Given the description of an element on the screen output the (x, y) to click on. 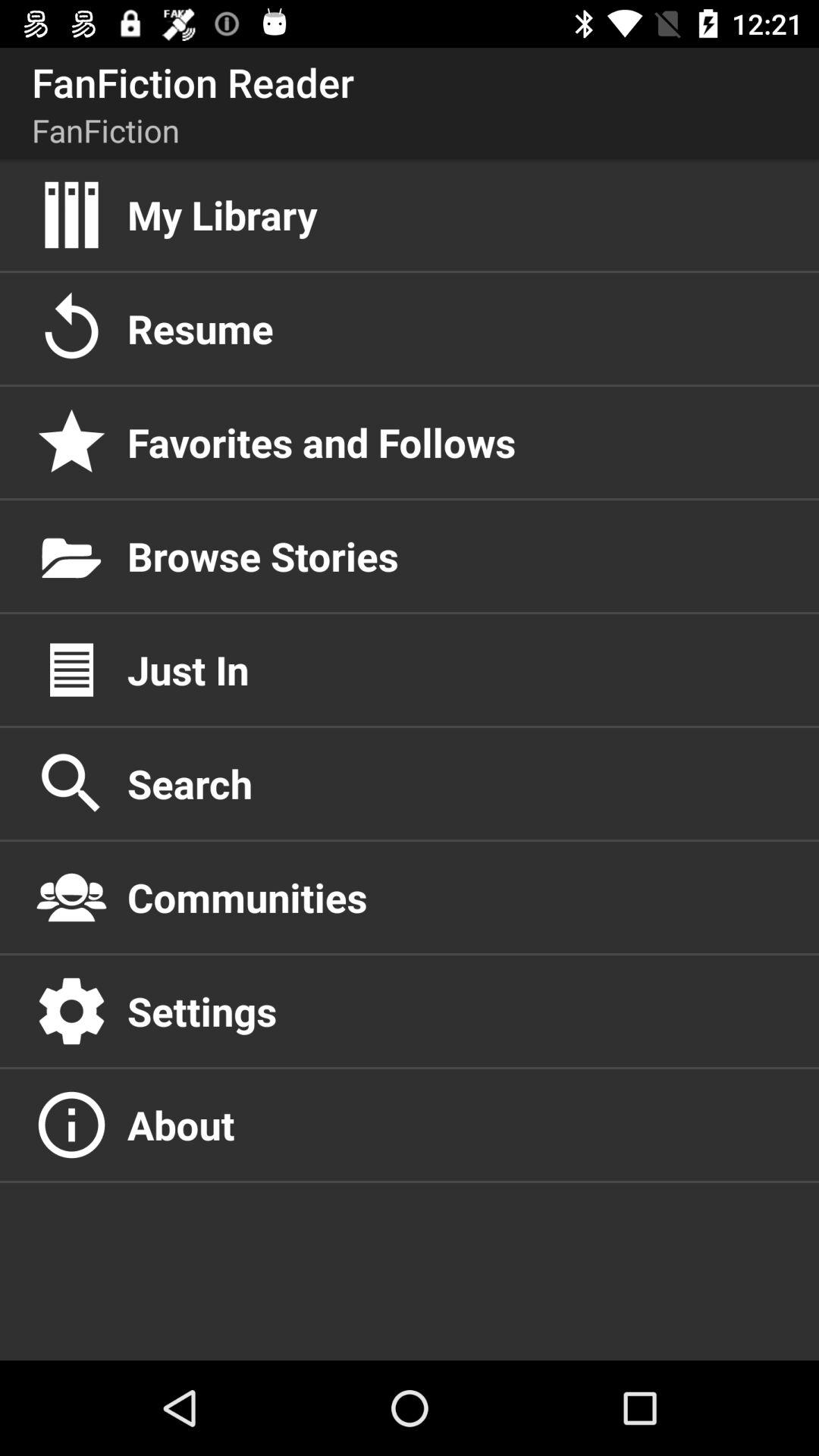
click the search icon (457, 783)
